Given the description of an element on the screen output the (x, y) to click on. 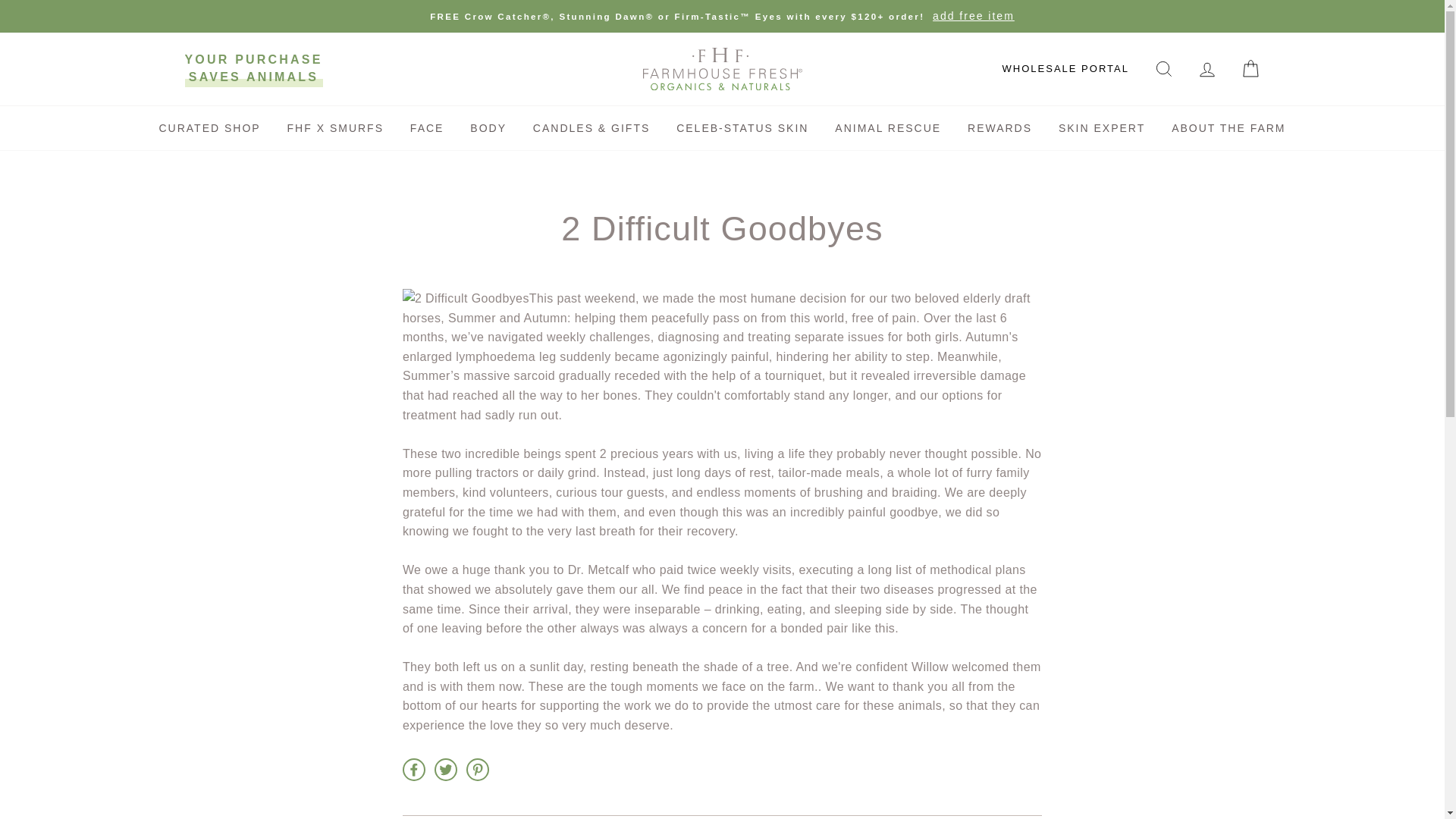
Share on Facebook (414, 769)
Tweet on Twitter (445, 769)
Pin on Pinterest (477, 769)
